Given the description of an element on the screen output the (x, y) to click on. 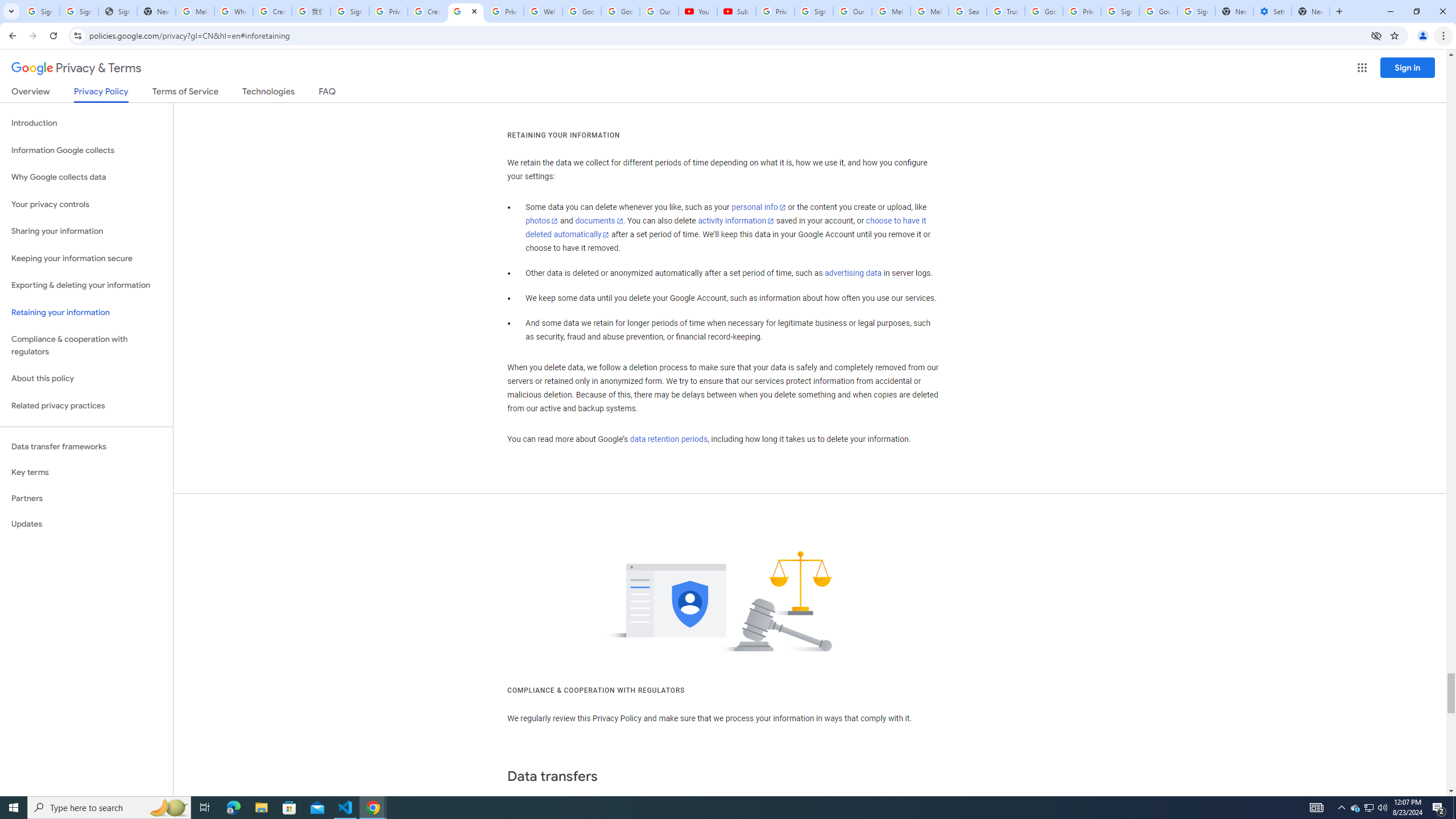
Retaining your information (86, 312)
Search our Doodle Library Collection - Google Doodles (967, 11)
advertising data (852, 273)
personal info (758, 207)
Technologies (268, 93)
documents (599, 221)
Sign in - Google Accounts (79, 11)
Introduction (86, 122)
Google Ads - Sign in (1043, 11)
